Given the description of an element on the screen output the (x, y) to click on. 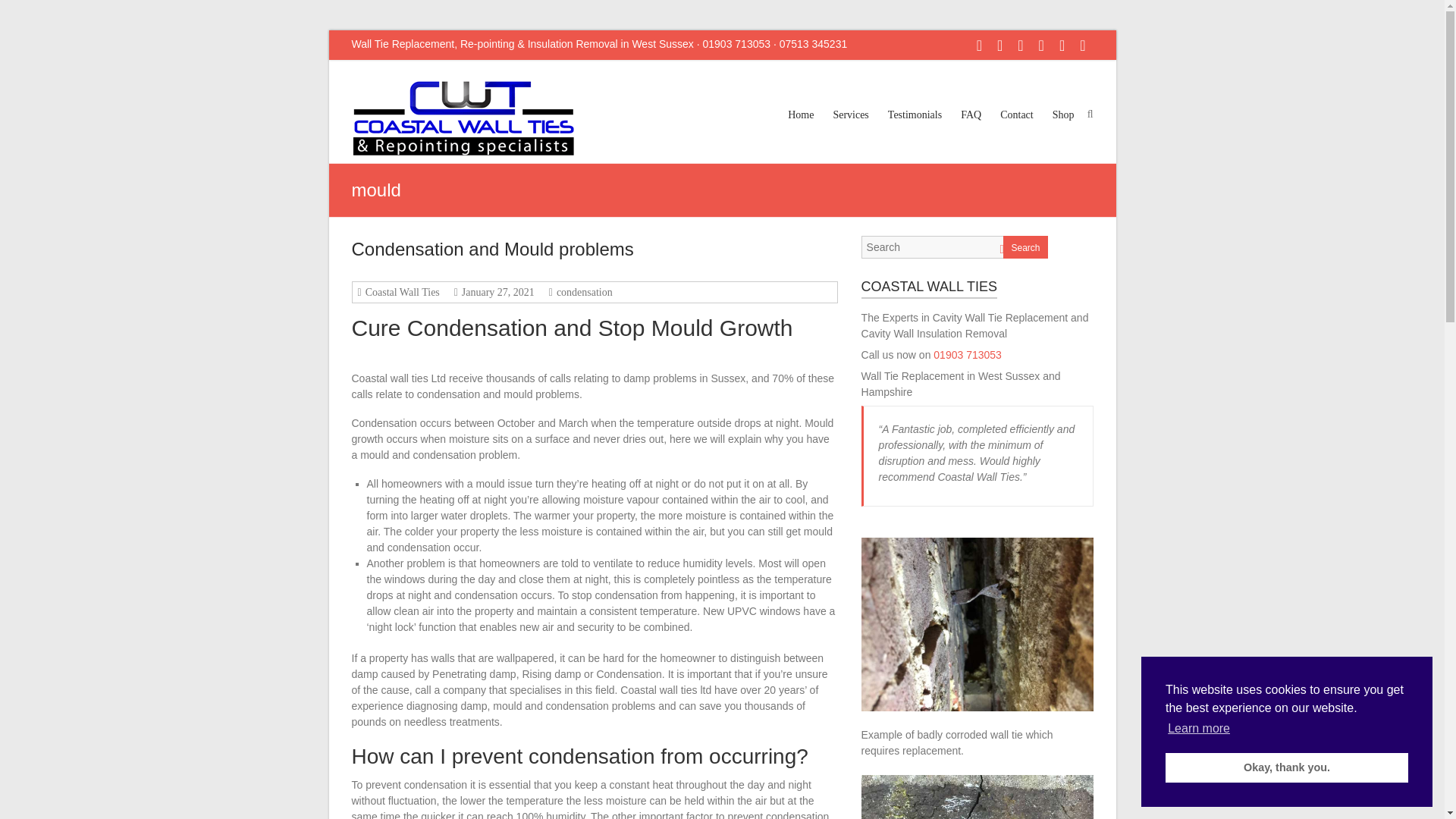
01903 713053 (967, 354)
Condensation and Mould problems (492, 249)
condensation (582, 292)
January 27, 2021 (496, 292)
Coastal Wall Ties Repointing and Insulation Removal (463, 118)
Coastal Wall Ties (400, 292)
Search (21, 11)
Condensation and Mould problems (492, 249)
Search (1024, 246)
